Given the description of an element on the screen output the (x, y) to click on. 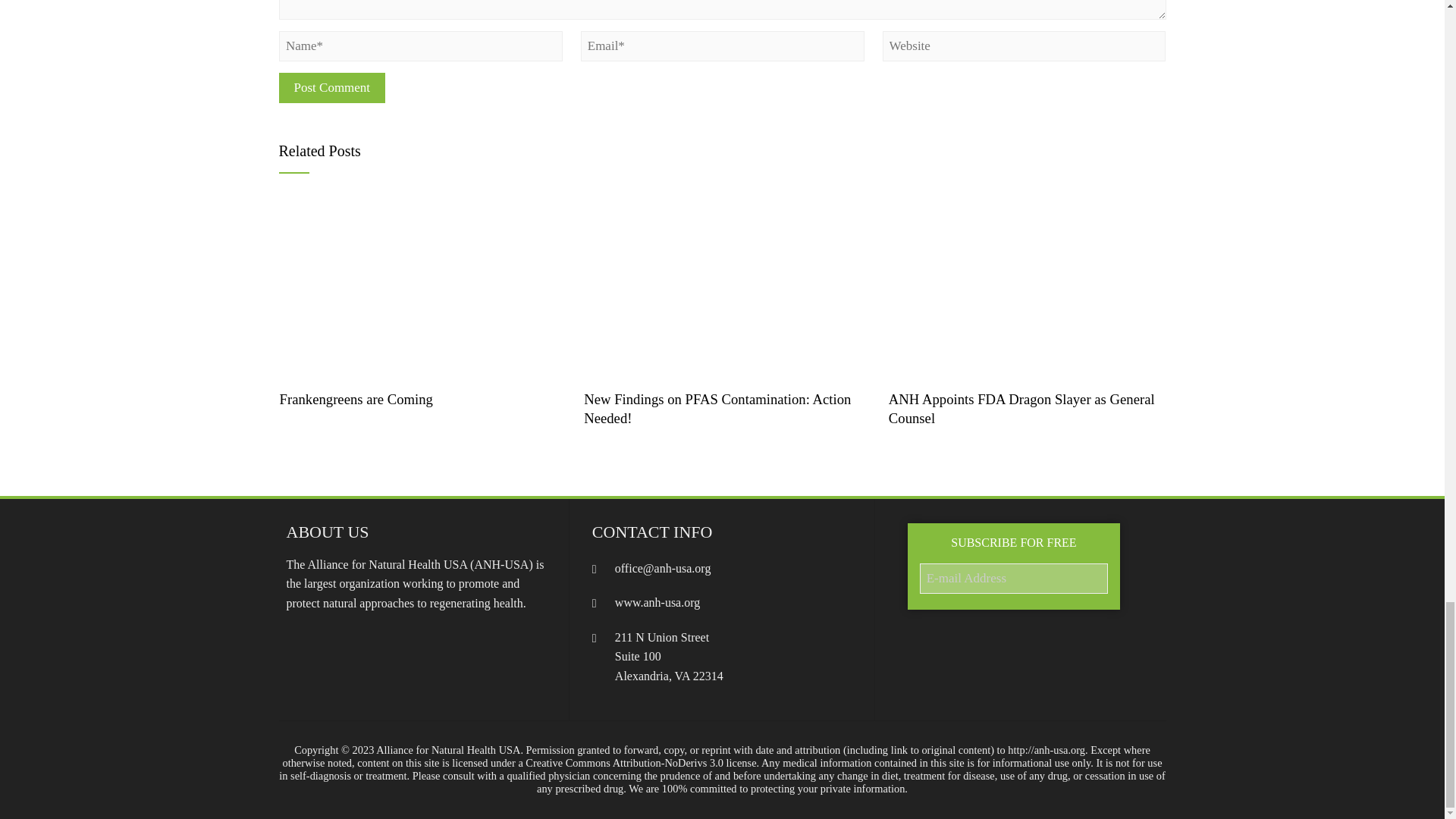
Frankengreens are Coming (355, 399)
Frankengreens are Coming (418, 285)
ANH Appoints FDA Dragon Slayer as General Counsel (1027, 285)
Post Comment (332, 87)
New Findings on PFAS Contamination: Action Needed! (716, 408)
New Findings on PFAS Contamination: Action Needed! (722, 285)
ANH Appoints FDA Dragon Slayer as General Counsel (1021, 408)
